Given the description of an element on the screen output the (x, y) to click on. 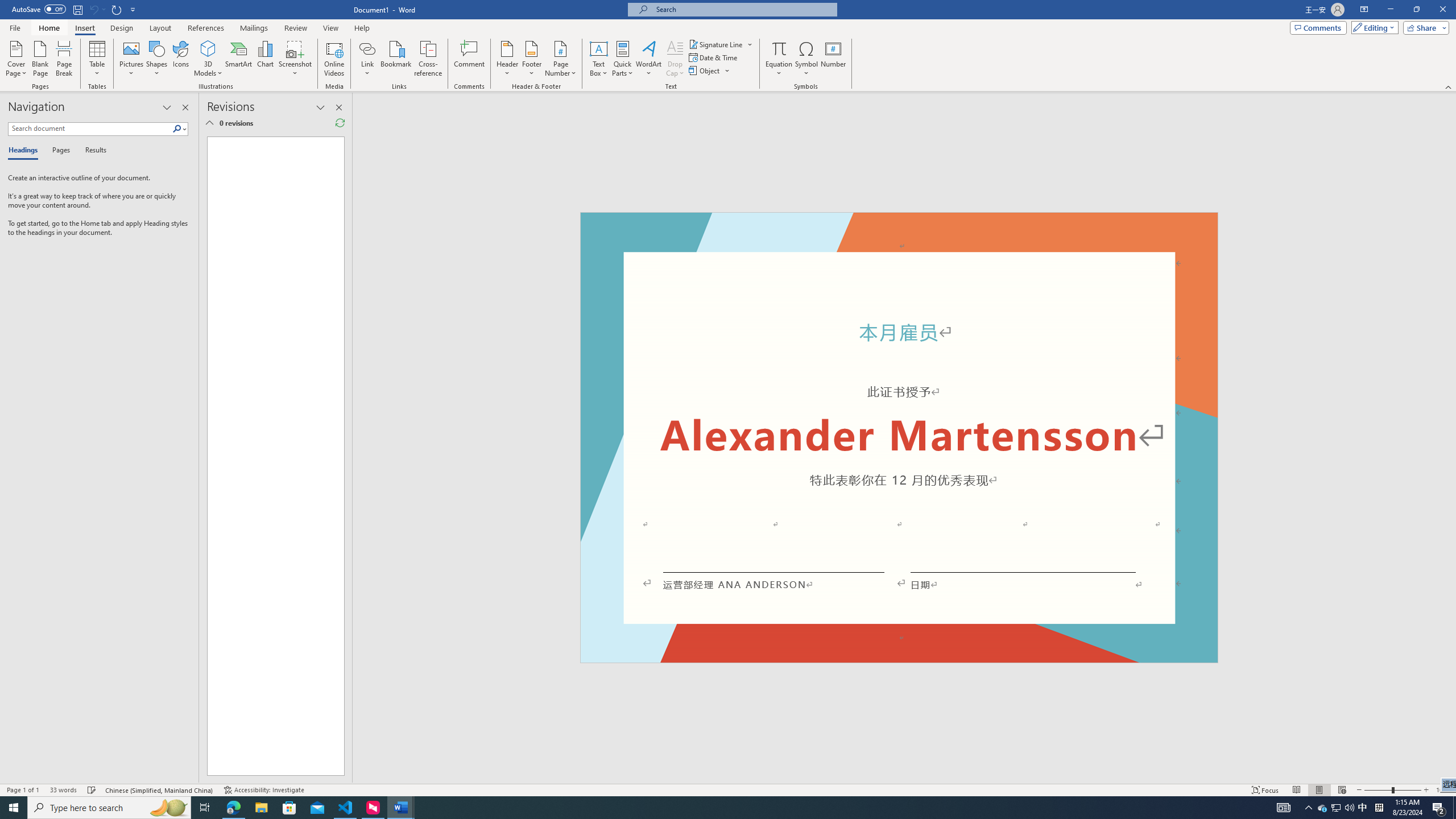
Table (97, 58)
Equation (778, 58)
